Given the description of an element on the screen output the (x, y) to click on. 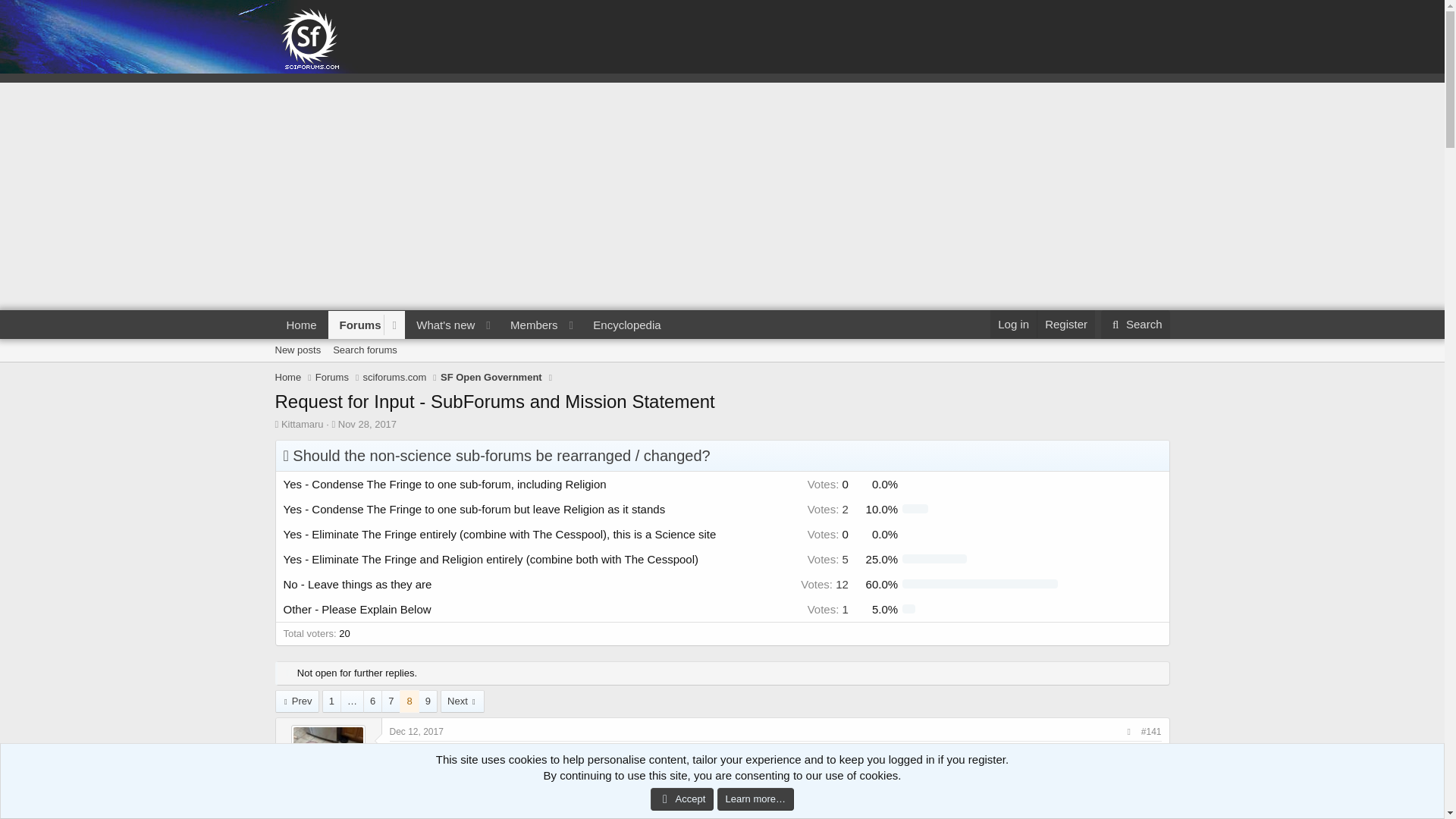
What's new (440, 325)
Home (301, 325)
Search (1135, 324)
Votes: 12 (824, 584)
New posts (296, 350)
Home (288, 377)
Forums (356, 325)
Log in (1013, 324)
Votes: 2 (828, 508)
Forums (332, 377)
Kittamaru (302, 423)
Dec 12, 2017 at 4:56 PM (417, 731)
Encyclopedia (625, 325)
Nov 28, 2017 (366, 423)
